Given the description of an element on the screen output the (x, y) to click on. 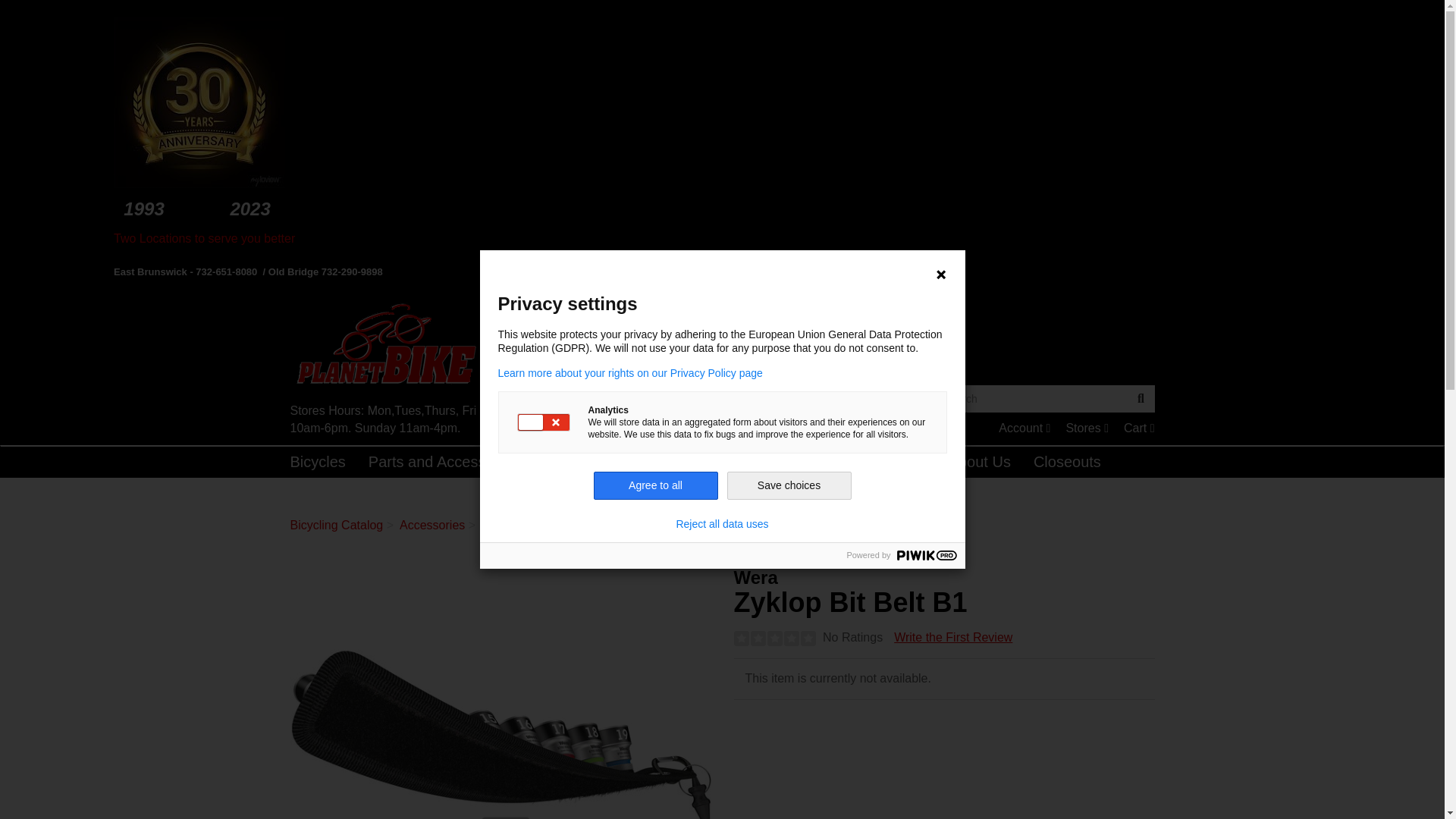
Planet Bike Home Page (499, 348)
Accessories (1023, 427)
Write the First Review (431, 524)
Tools (952, 636)
Closeouts (613, 524)
Places to Ride (1067, 461)
Wera Zyklop Bit Belt B1  (718, 461)
Service (499, 734)
Wera (1139, 427)
Account (1086, 427)
Stores (622, 461)
Ride Now Pay Later (660, 524)
